Given the description of an element on the screen output the (x, y) to click on. 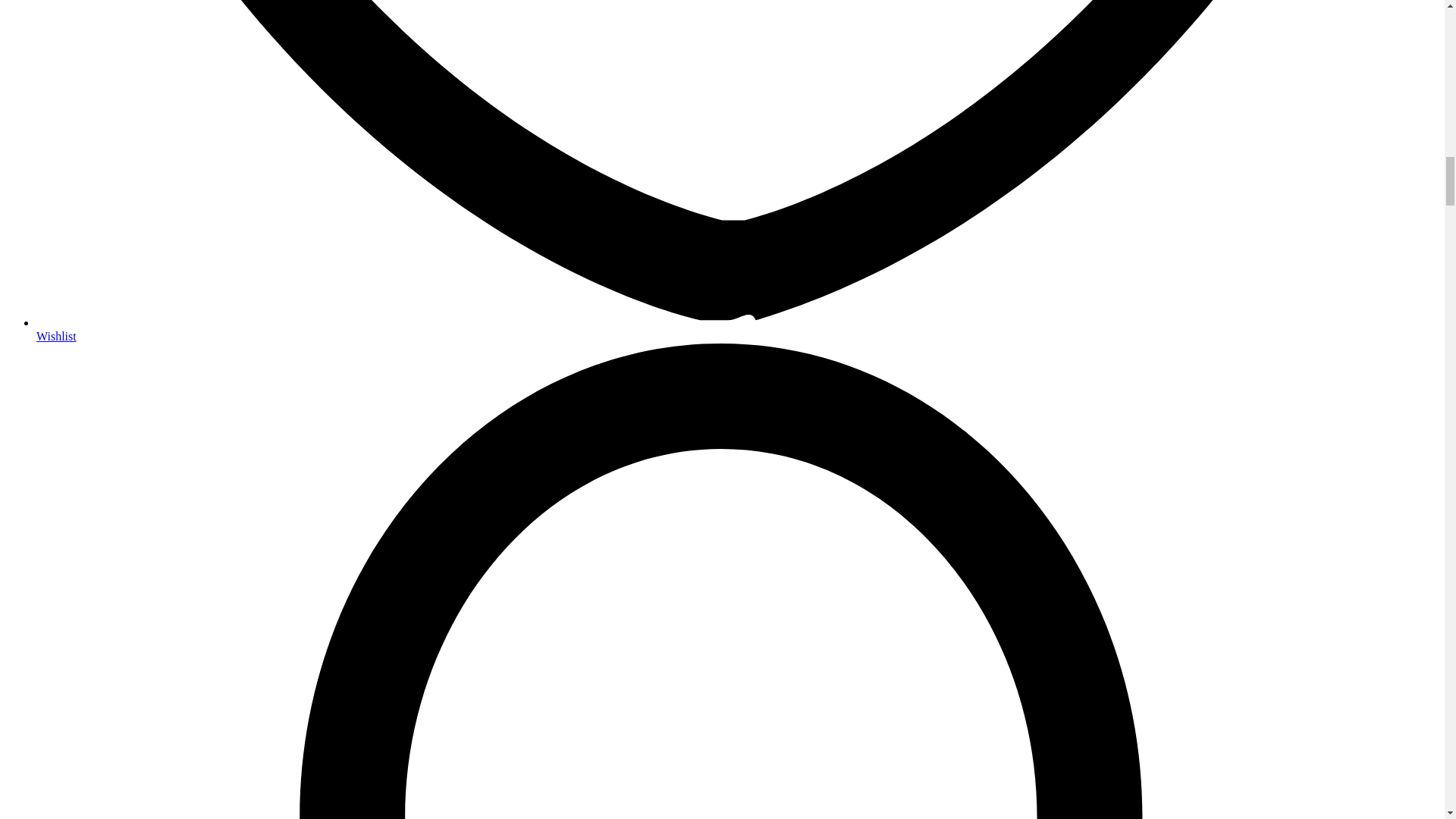
Wishlist (56, 336)
